Given the description of an element on the screen output the (x, y) to click on. 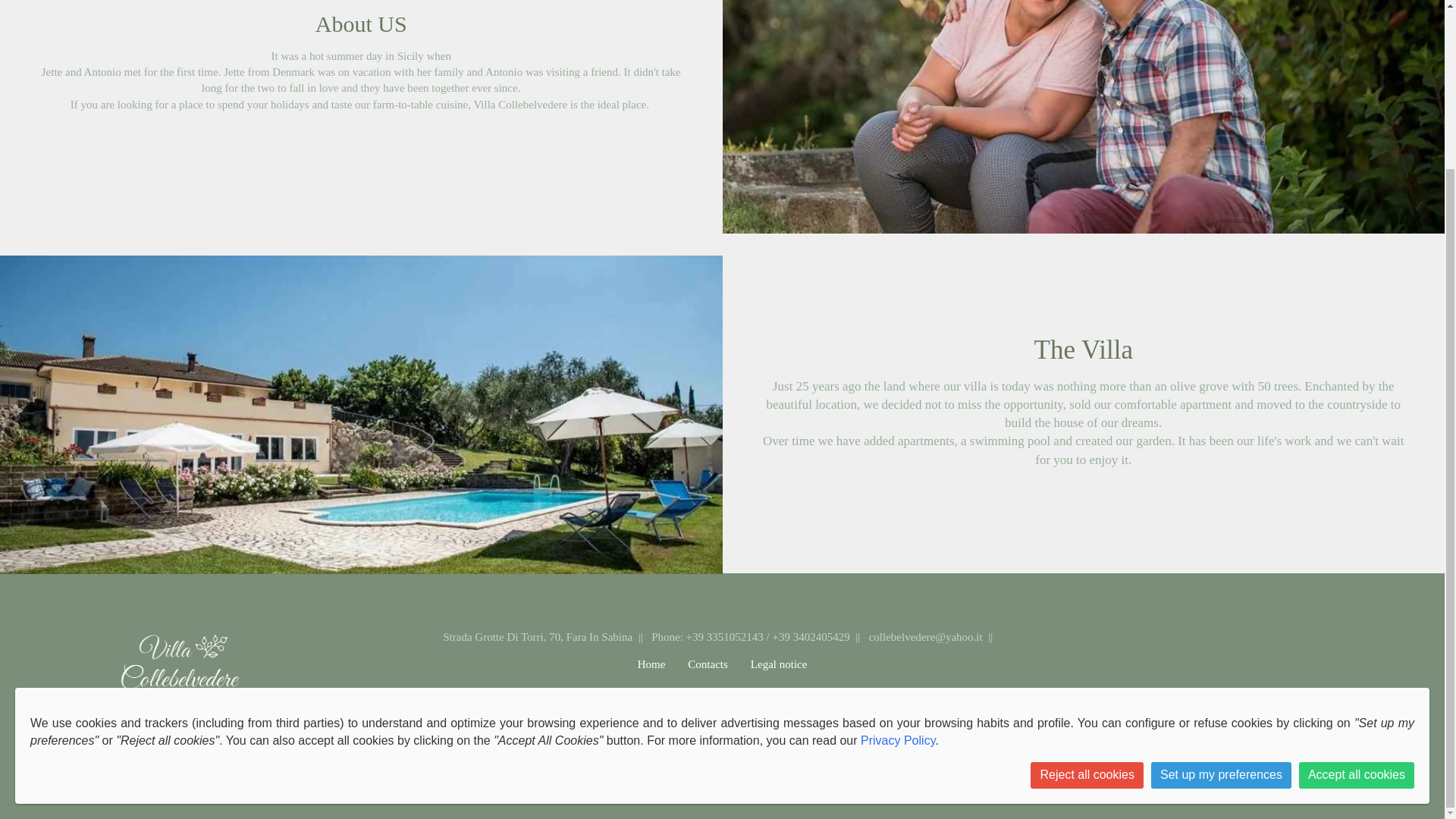
Privacy Policy (897, 538)
Reject all cookies (1086, 573)
Contacts (708, 669)
Home (651, 669)
Powered using Amenitiz (721, 728)
EN (710, 696)
Legal notice (778, 669)
